Given the description of an element on the screen output the (x, y) to click on. 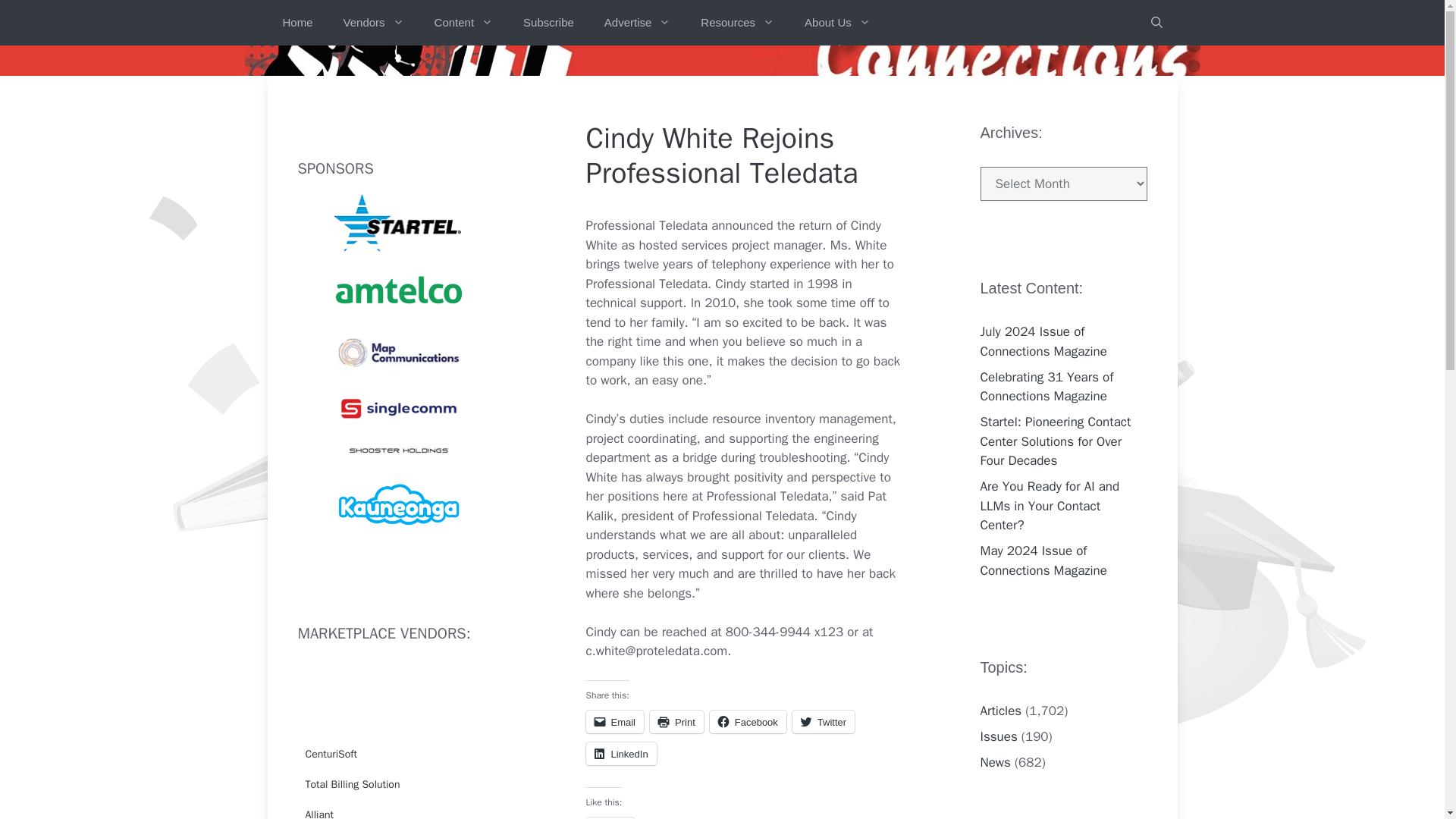
Click to share on LinkedIn (620, 753)
Click to share on Facebook (748, 721)
Subscribe (548, 22)
Resources (737, 22)
Advertise (637, 22)
Click to share on Twitter (823, 721)
Content (463, 22)
About Us (837, 22)
Click to print (676, 721)
